Given the description of an element on the screen output the (x, y) to click on. 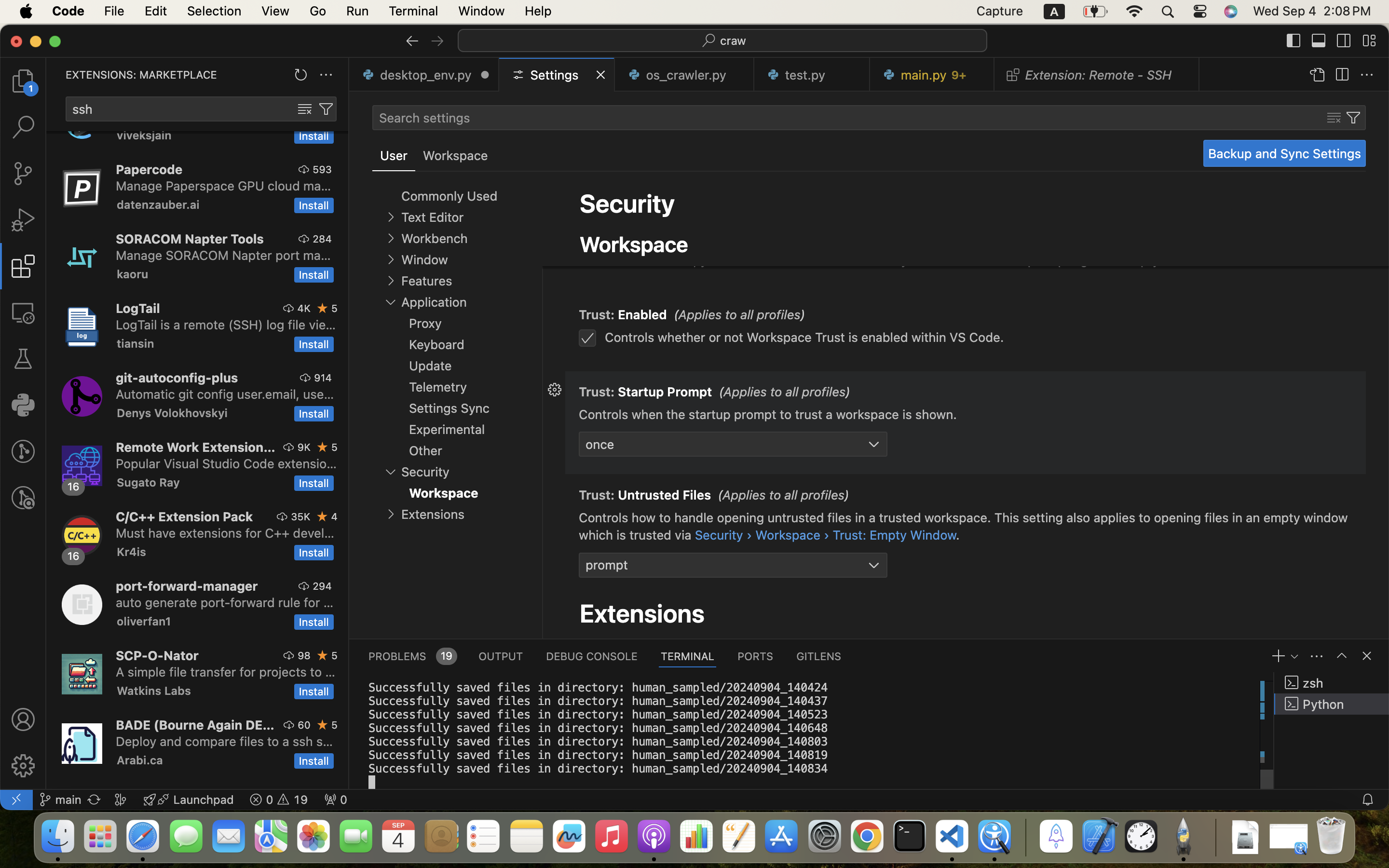
Popular Visual Studio Code extensions for Remote Work Element type: AXStaticText (226, 463)
 Element type: AXButton (412, 40)
port-forward-manager Element type: AXStaticText (186, 585)
0  Element type: AXRadioButton (23, 173)
1  Element type: AXRadioButton (23, 266)
